Given the description of an element on the screen output the (x, y) to click on. 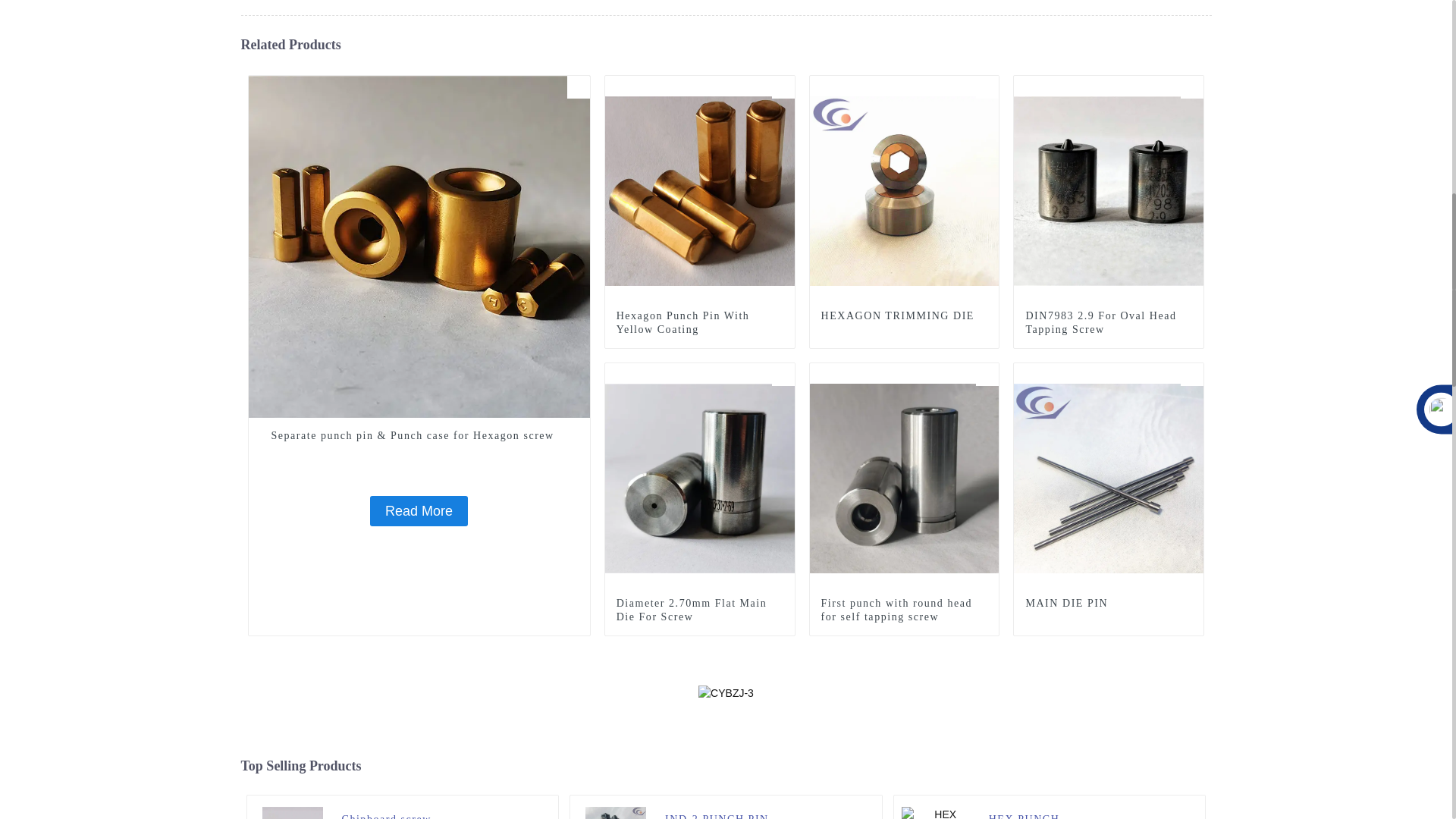
DIN7983 2.9 For Oval Head Tapping Screw (1108, 189)
Flat main die 01 (782, 374)
Hexagon Punch Pin With Yellow Coating (699, 322)
Read More (418, 511)
HEXAGON TRIMMING DIE (903, 189)
Hexagon Punch Pin With Yellow Coating (699, 322)
DIN7983 2.9 For Oval Head Tapping Screw (1108, 322)
DIN7983 2.9 For Oval Head Tapping Screw (1108, 322)
Hexagon Punch Pin With Yellow Coating (699, 189)
HEXAGON TRIMMING DIE (904, 315)
